Given the description of an element on the screen output the (x, y) to click on. 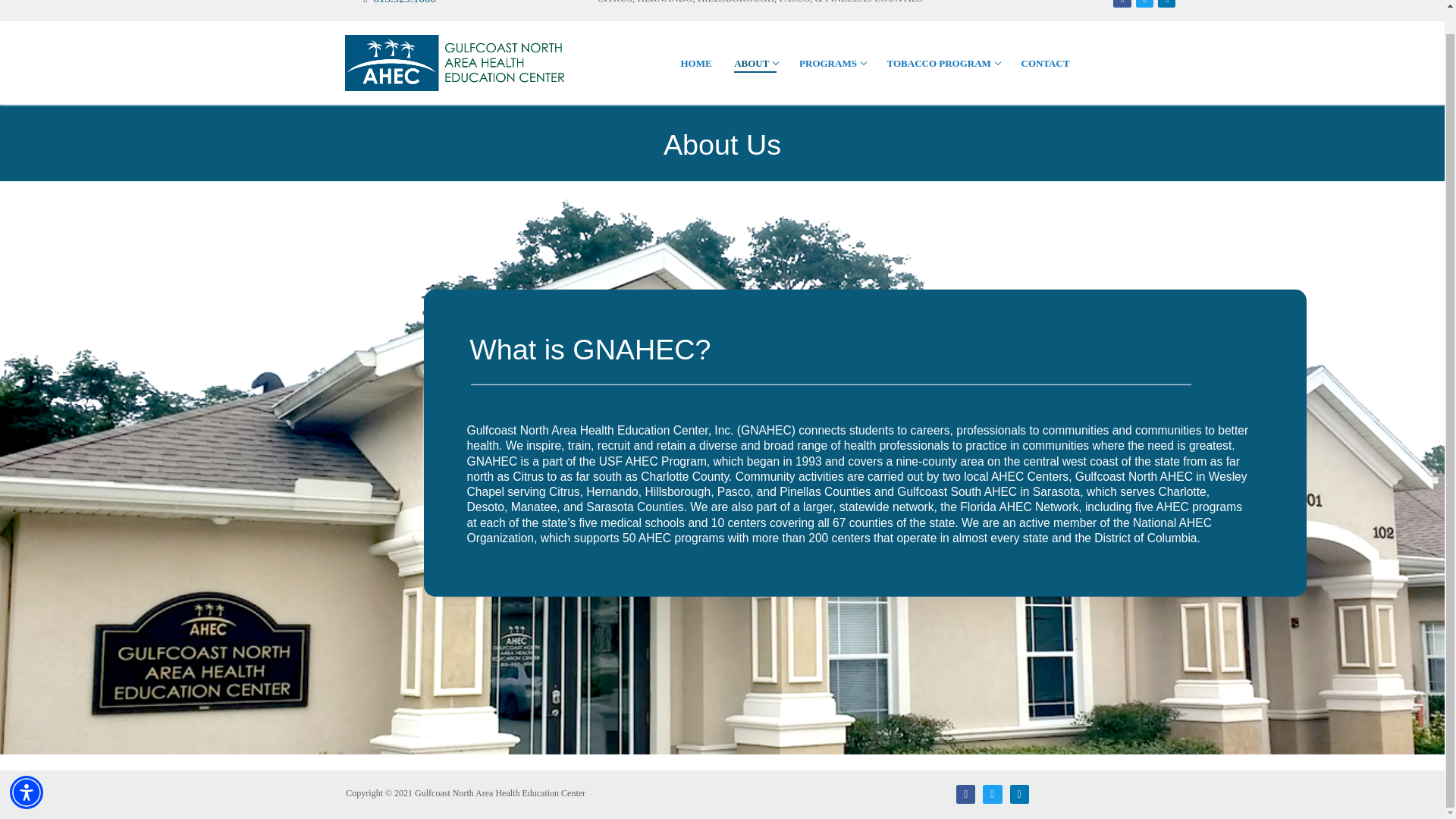
Twitter (992, 794)
Linkedin (1166, 2)
Facebook (965, 794)
Accessibility Menu (26, 767)
Linkedin (754, 62)
Twitter (1019, 794)
Facebook (1145, 2)
813.929.1000 (1122, 2)
HOME (392, 2)
CONTACT (943, 62)
